Given the description of an element on the screen output the (x, y) to click on. 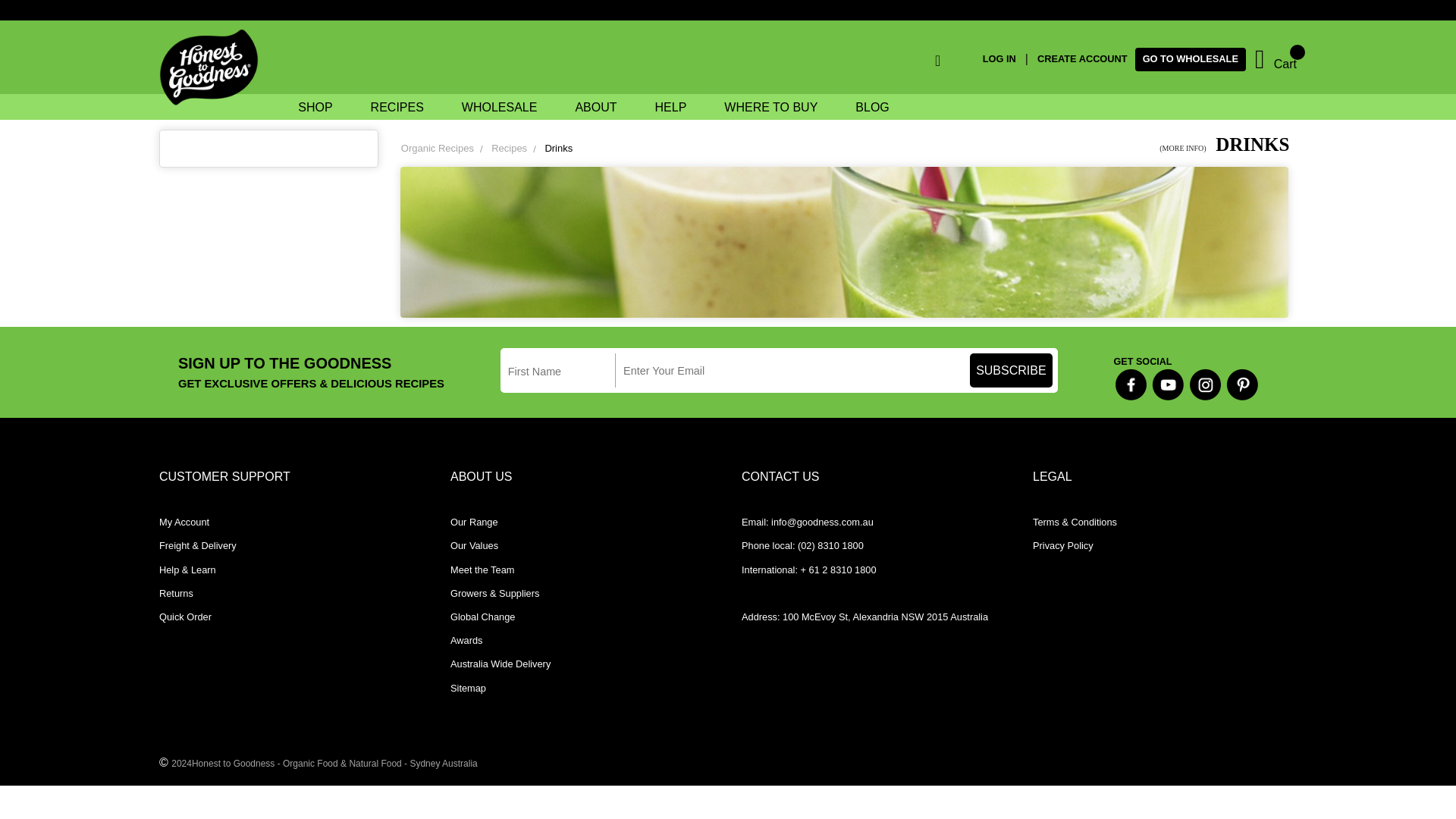
Honest to Goodness (212, 68)
CREATE ACCOUNT (1081, 59)
LOG IN (1003, 59)
Search (901, 62)
Search (901, 62)
GO TO WHOLESALE (1190, 59)
SUBSCRIBE (1010, 369)
Cart (1276, 58)
Cart (1276, 58)
